Given the description of an element on the screen output the (x, y) to click on. 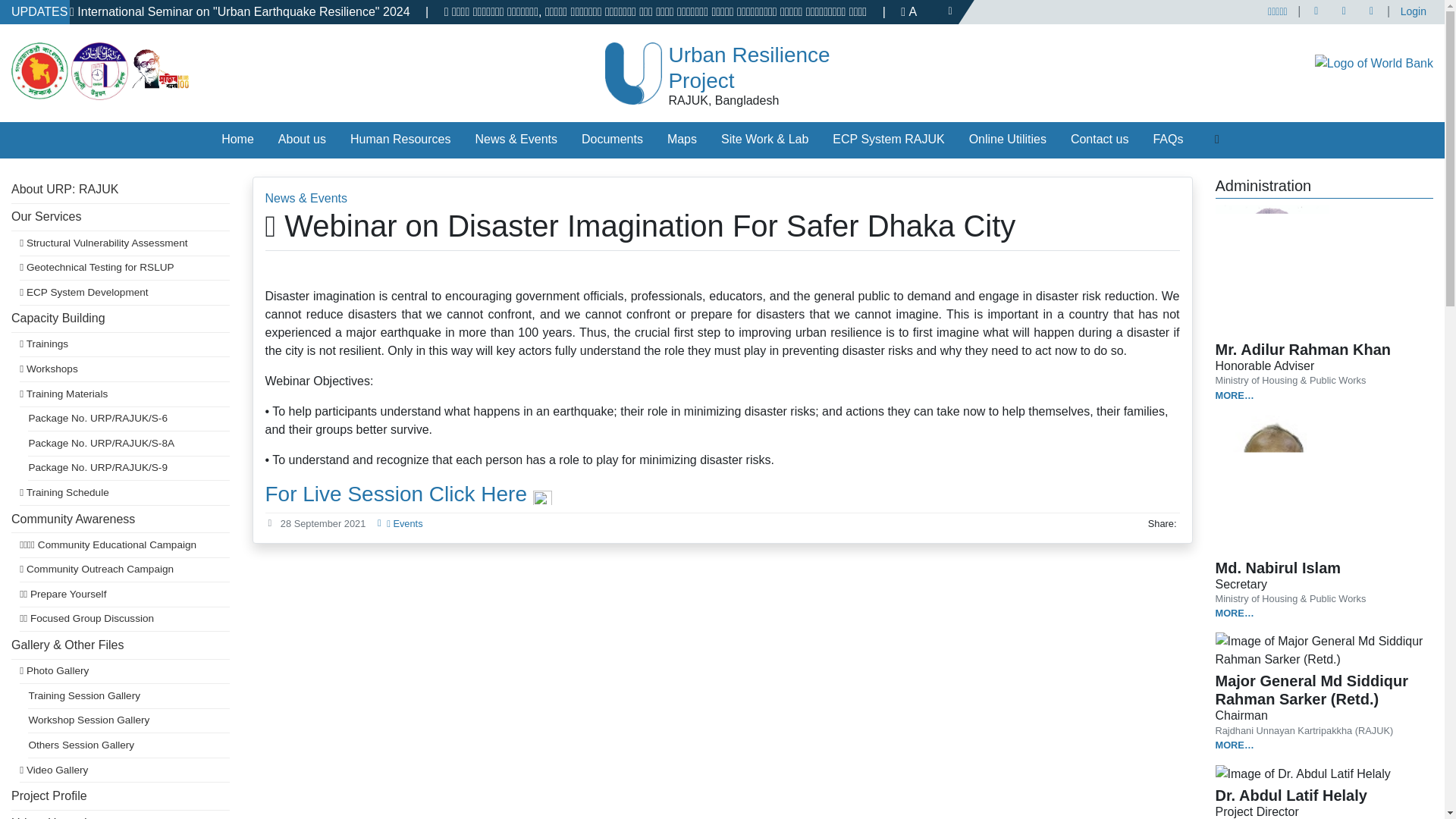
LinkedIn profile (1371, 11)
Home (237, 139)
About us (301, 139)
Human Resources (400, 139)
More Updates (949, 11)
Documents (612, 139)
Twitter profile (1343, 11)
Facebook page (1315, 11)
Date Published (269, 523)
Maps (682, 139)
